Given the description of an element on the screen output the (x, y) to click on. 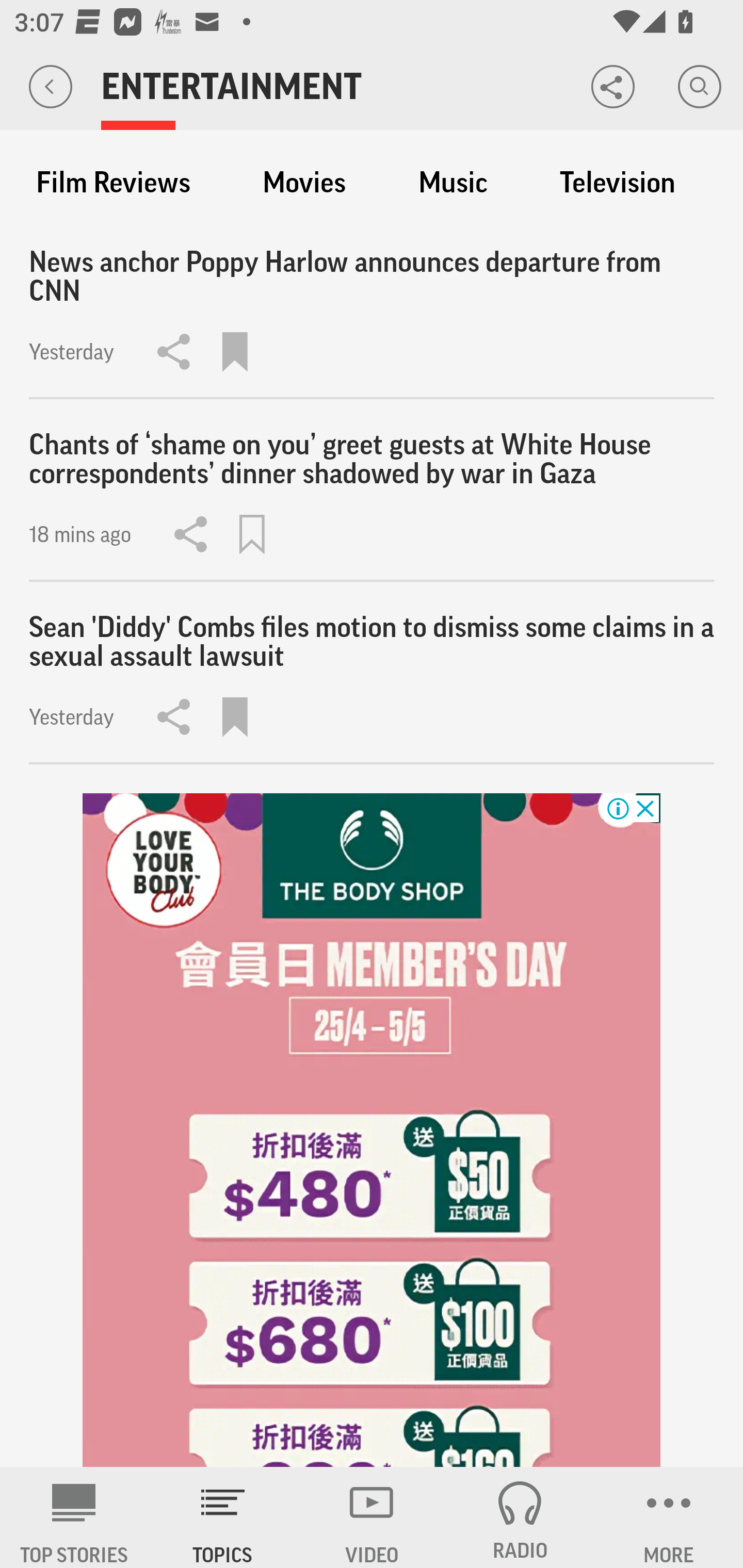
Film Reviews (112, 182)
Movies (304, 182)
Music (452, 182)
Television (617, 182)
AP News TOP STORIES (74, 1517)
TOPICS (222, 1517)
VIDEO (371, 1517)
RADIO (519, 1517)
MORE (668, 1517)
